Given the description of an element on the screen output the (x, y) to click on. 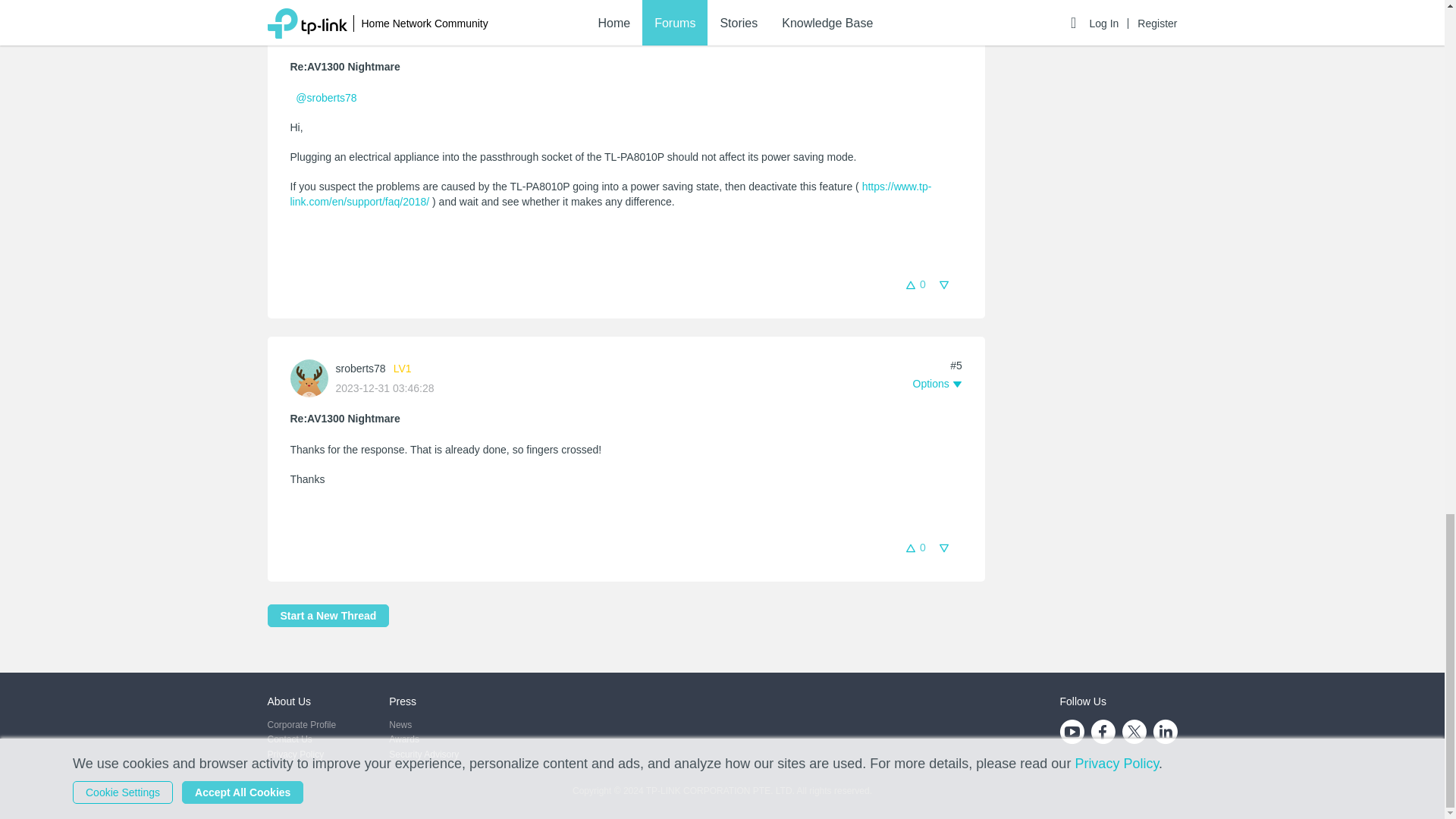
woozle (351, 16)
sroberts78 (359, 368)
